Given the description of an element on the screen output the (x, y) to click on. 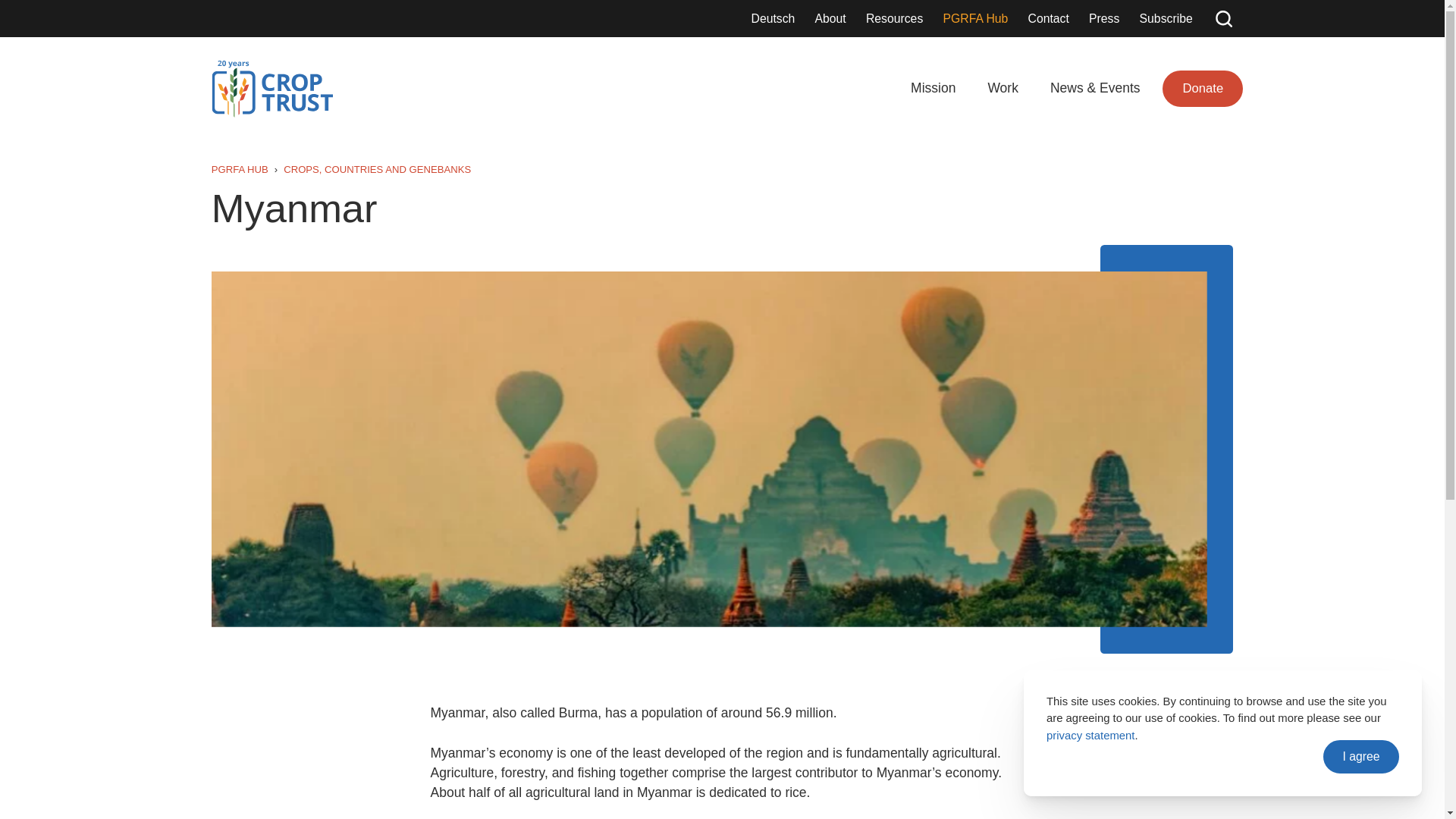
Press (1103, 17)
Mission (933, 88)
Subscribe (1165, 17)
Resources (894, 17)
Work (1002, 88)
Crop Trust - Securing our food, forever (272, 88)
About (830, 17)
Deutsch (773, 17)
PGRFA Hub (975, 17)
Contact (1047, 17)
